Given the description of an element on the screen output the (x, y) to click on. 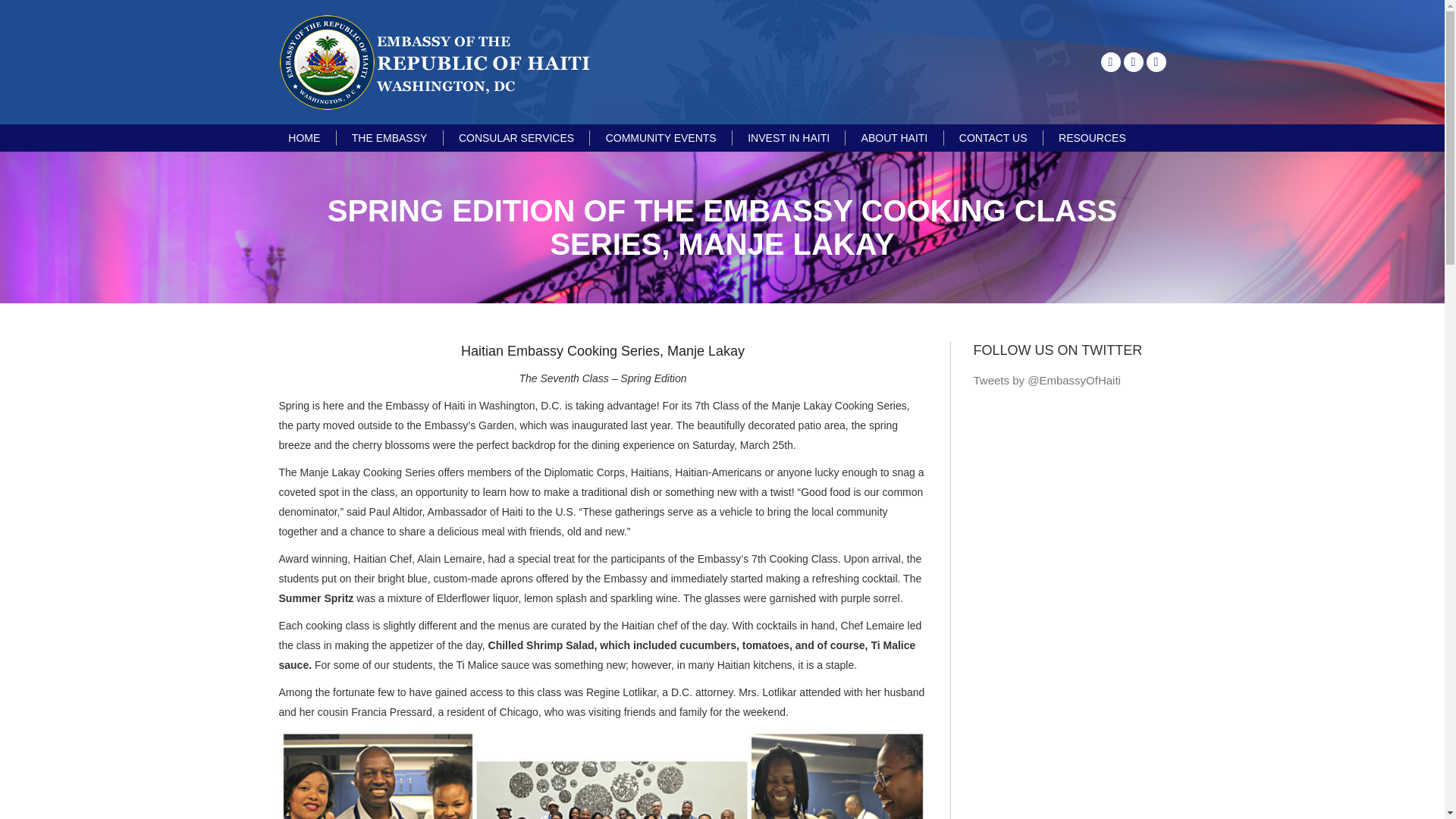
COMMUNITY EVENTS (660, 137)
RESOURCES (1091, 137)
Instagram page opens in new window (1156, 62)
THE EMBASSY (390, 137)
Facebook page opens in new window (1110, 62)
HOME (304, 137)
X page opens in new window (1133, 62)
ABOUT HAITI (894, 137)
INVEST IN HAITI (788, 137)
X page opens in new window (1133, 62)
CONTACT US (993, 137)
Instagram page opens in new window (1156, 62)
CONSULAR SERVICES (515, 137)
Facebook page opens in new window (1110, 62)
